Given the description of an element on the screen output the (x, y) to click on. 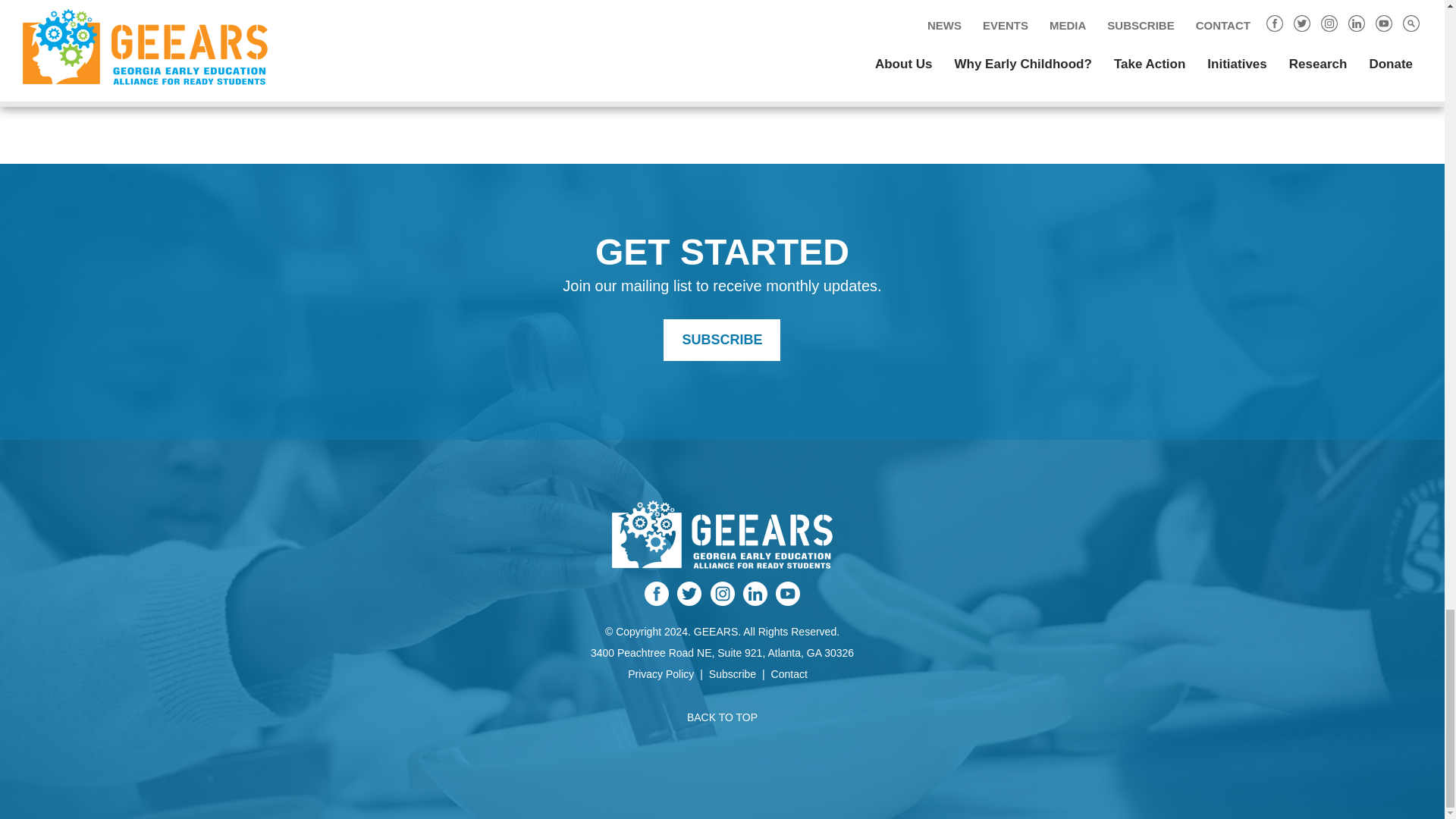
GEEARS (721, 556)
Subscribe (721, 340)
